Given the description of an element on the screen output the (x, y) to click on. 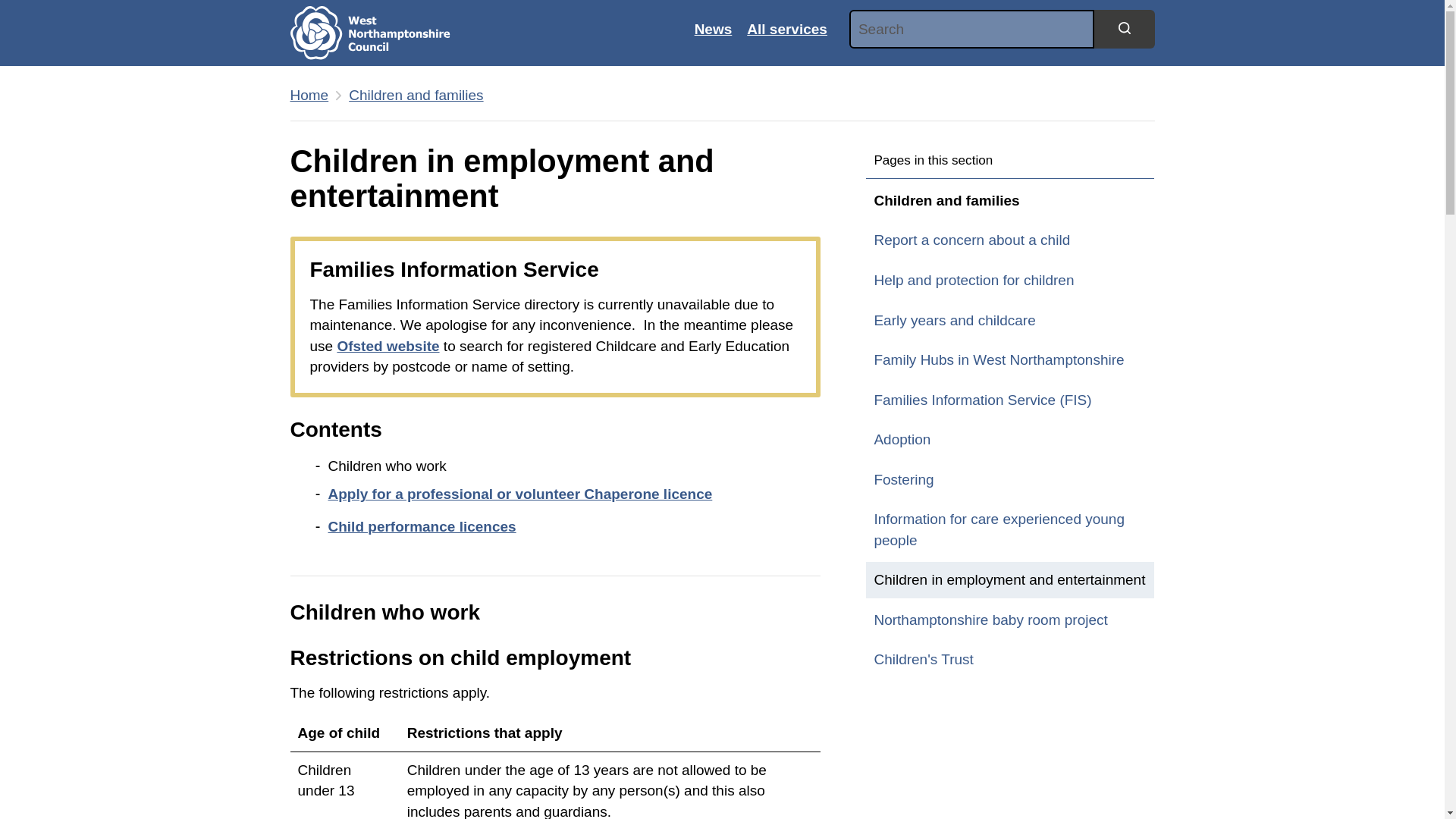
News (713, 29)
Children's Trust (1010, 659)
Home (309, 94)
Children and families (416, 94)
Skip to main content (11, 7)
Home (380, 32)
Adoption (1010, 439)
Child performance licences (421, 526)
Ofsted website (387, 345)
Children and families (416, 94)
Northamptonshire baby room project (1010, 619)
Search (1123, 28)
Information for care experienced young people (1010, 529)
Family Hubs in West Northamptonshire (1010, 360)
Early years and childcare (1010, 320)
